Given the description of an element on the screen output the (x, y) to click on. 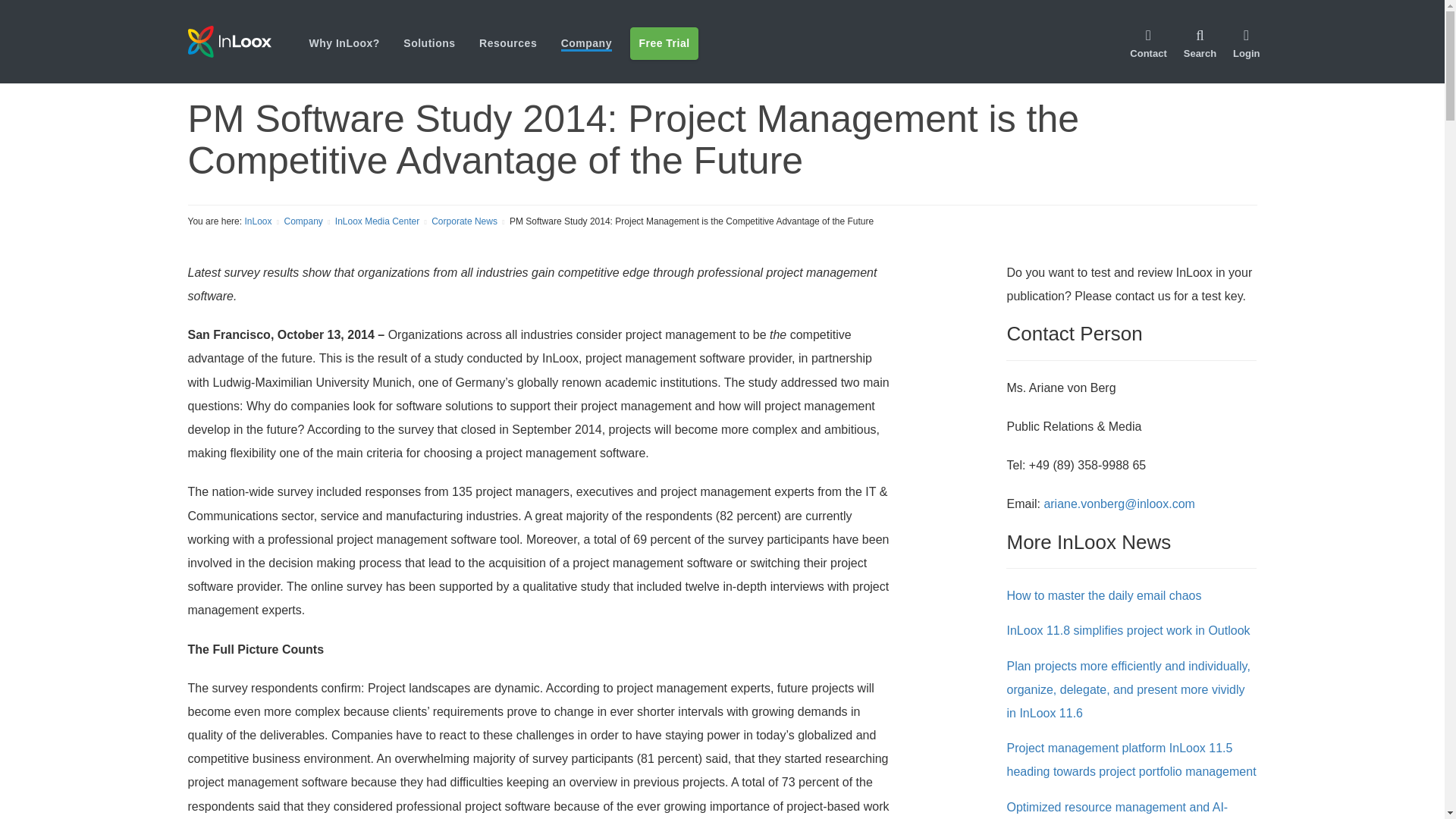
InLoox (228, 41)
Why InLoox? (344, 42)
InLoox (247, 41)
